Given the description of an element on the screen output the (x, y) to click on. 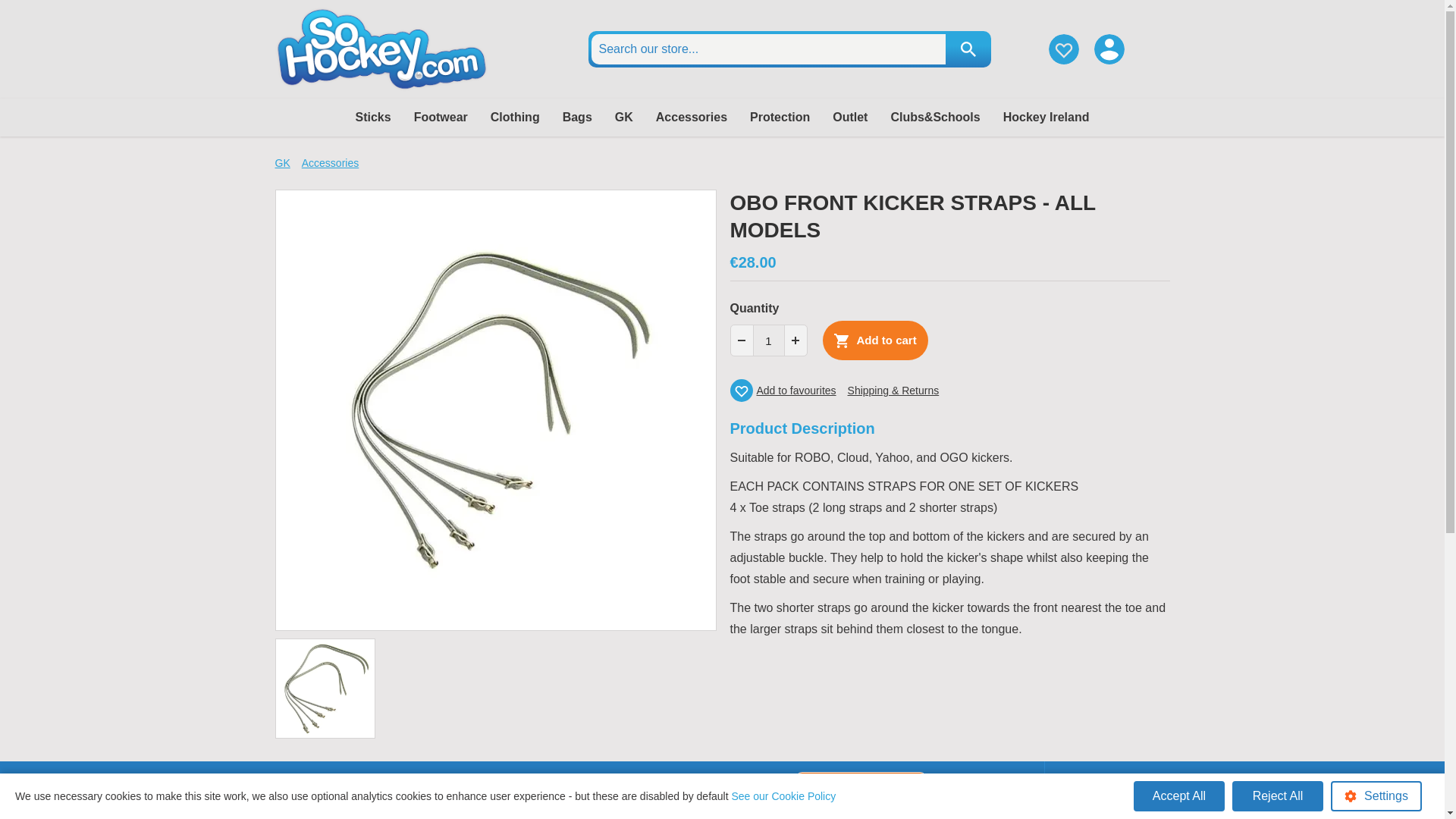
1 (769, 340)
